Given the description of an element on the screen output the (x, y) to click on. 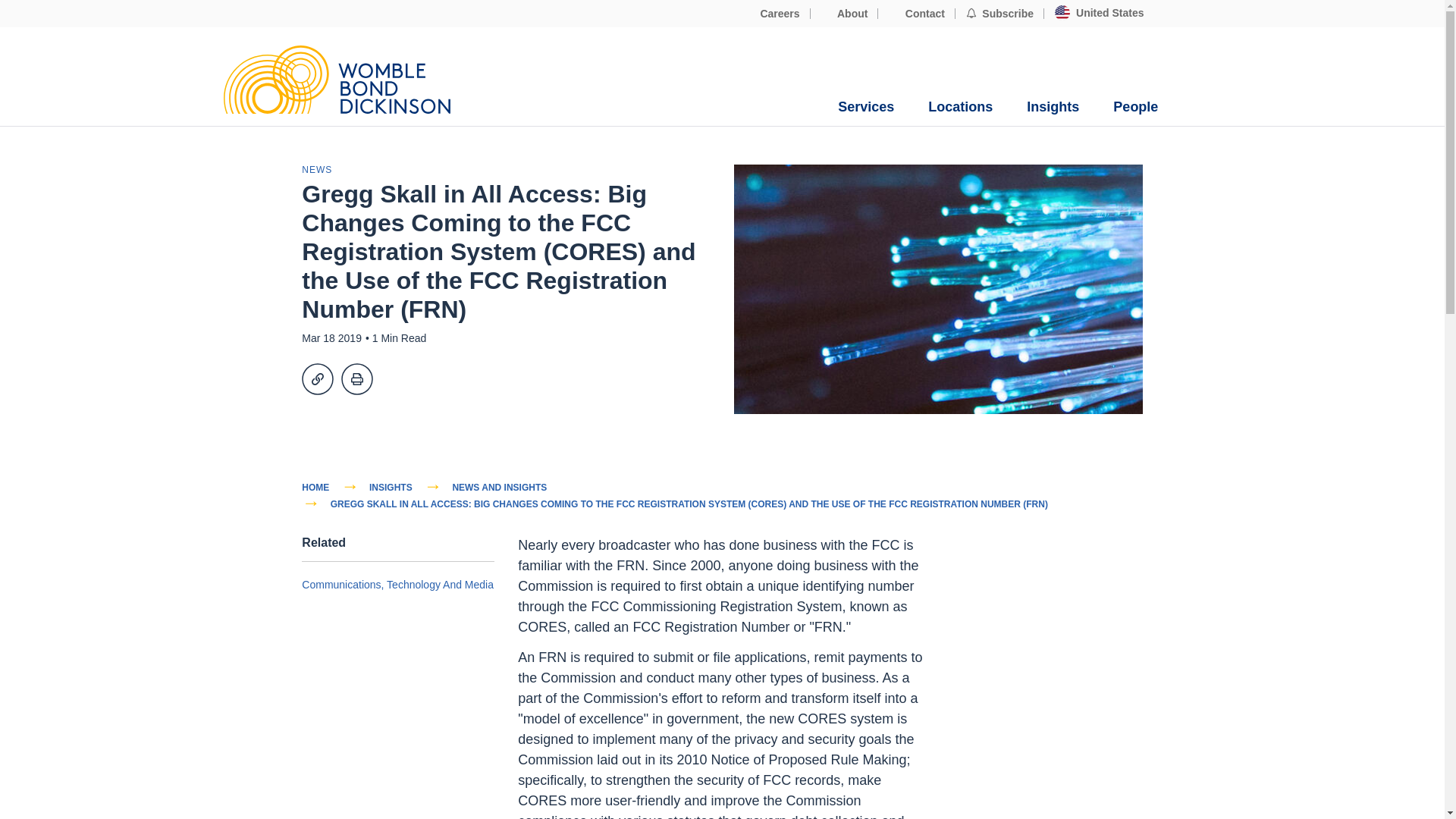
Locations (960, 107)
Services (865, 107)
United States (1098, 13)
About (844, 13)
Careers (771, 13)
Contact (916, 13)
